Given the description of an element on the screen output the (x, y) to click on. 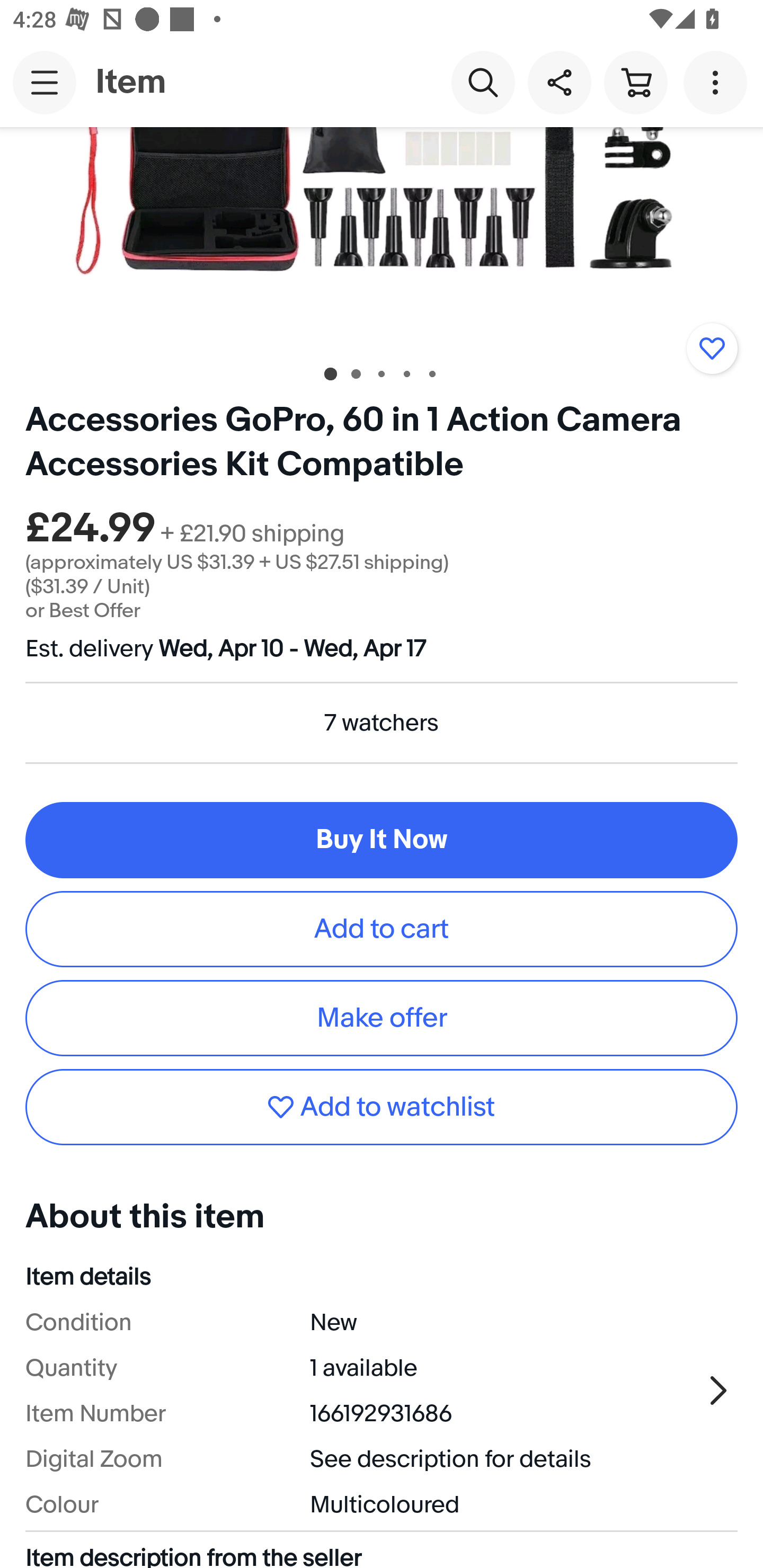
Main navigation, open (44, 82)
Search (482, 81)
Share this item (559, 81)
Cart button shopping cart (635, 81)
More options (718, 81)
Item image 1 of 6 (381, 237)
Add to watchlist (711, 348)
Buy It Now (381, 839)
Add to cart (381, 928)
Make offer (381, 1018)
Add to watchlist (381, 1106)
